Given the description of an element on the screen output the (x, y) to click on. 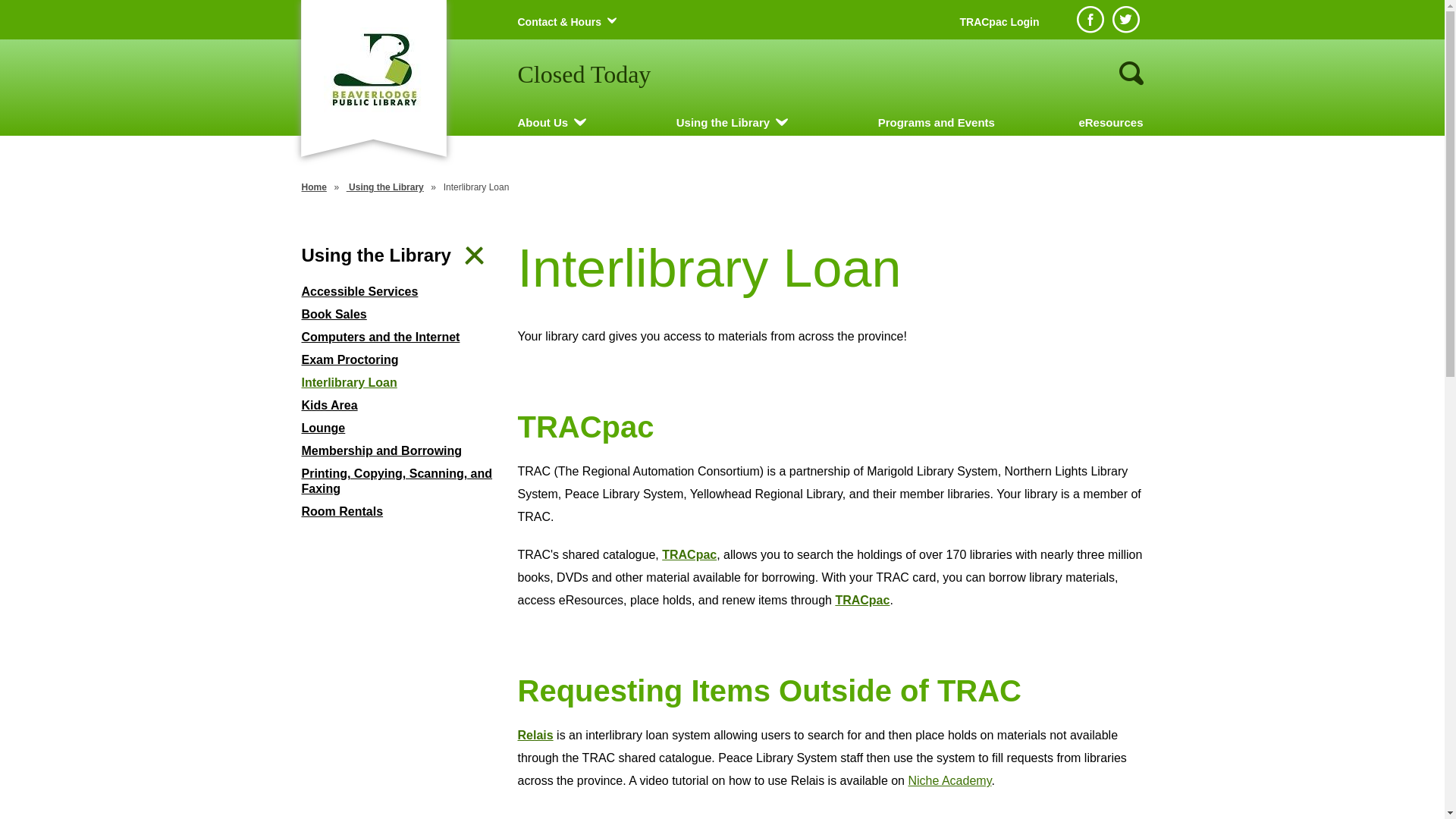
Printing, Copying, Scanning, and Faxing Element type: text (398, 481)
Membership and Borrowing Element type: text (398, 450)
Accessible Services Element type: text (398, 291)
Facebook Element type: hover (1090, 19)
Relais Element type: text (534, 734)
TRACpac Element type: text (861, 599)
Using the Library
Toggle navigation Element type: text (398, 255)
Programs and Events Element type: text (936, 122)
eResources Element type: text (1110, 122)
Beaverlodge Public Library Element type: hover (373, 69)
Using the Library Element type: text (722, 122)
TRACpac Element type: text (689, 554)
Niche Academy Element type: text (949, 780)
Contact & Hours Element type: text (558, 21)
Exam Proctoring Element type: text (398, 359)
TRACpac Login Element type: text (998, 21)
Using the Library Element type: text (384, 187)
Room Rentals Element type: text (398, 511)
About Us Element type: text (542, 122)
Interlibrary Loan Element type: text (398, 382)
Twitter Element type: hover (1125, 19)
Computers and the Internet Element type: text (398, 337)
Lounge Element type: text (398, 428)
Home Element type: text (313, 187)
Book Sales Element type: text (398, 314)
Kids Area Element type: text (398, 405)
